Given the description of an element on the screen output the (x, y) to click on. 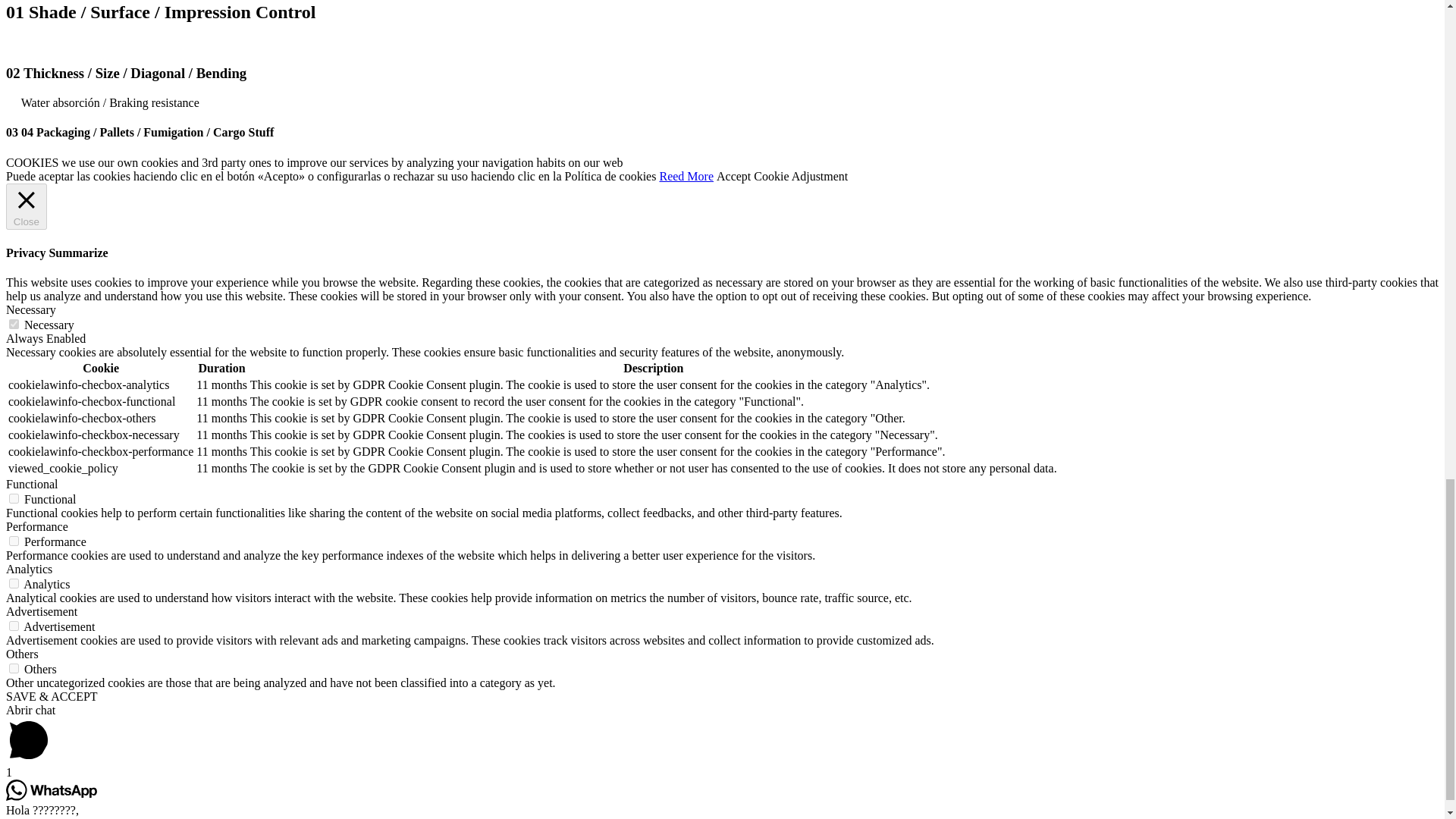
on (13, 625)
Accept (733, 176)
Performance (36, 526)
on (13, 668)
on (13, 324)
Others (22, 653)
Advertisement (41, 611)
on (13, 541)
WhatsApp (51, 789)
Cookie Adjustment (800, 175)
